Given the description of an element on the screen output the (x, y) to click on. 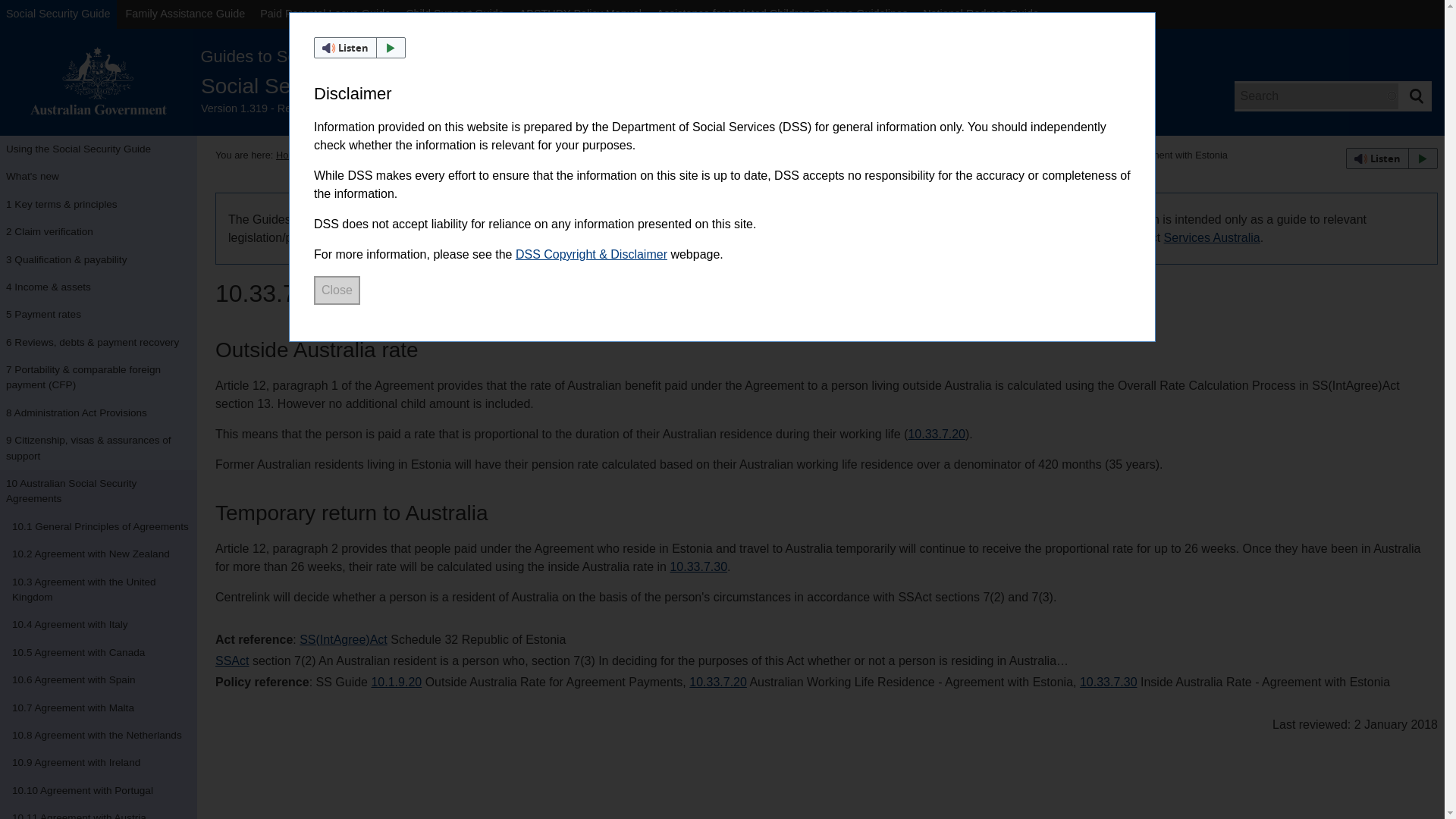
ABSTUDY Policy Manual (580, 14)
8 Administration Act Provisions (98, 412)
Enter search terms (1315, 95)
Search (1415, 96)
Listen (360, 47)
2 Claim verification (98, 231)
National Redress Guide (981, 14)
Paid Parental Leave Guide (324, 14)
10.1 General Principles of Agreements (98, 526)
